Given the description of an element on the screen output the (x, y) to click on. 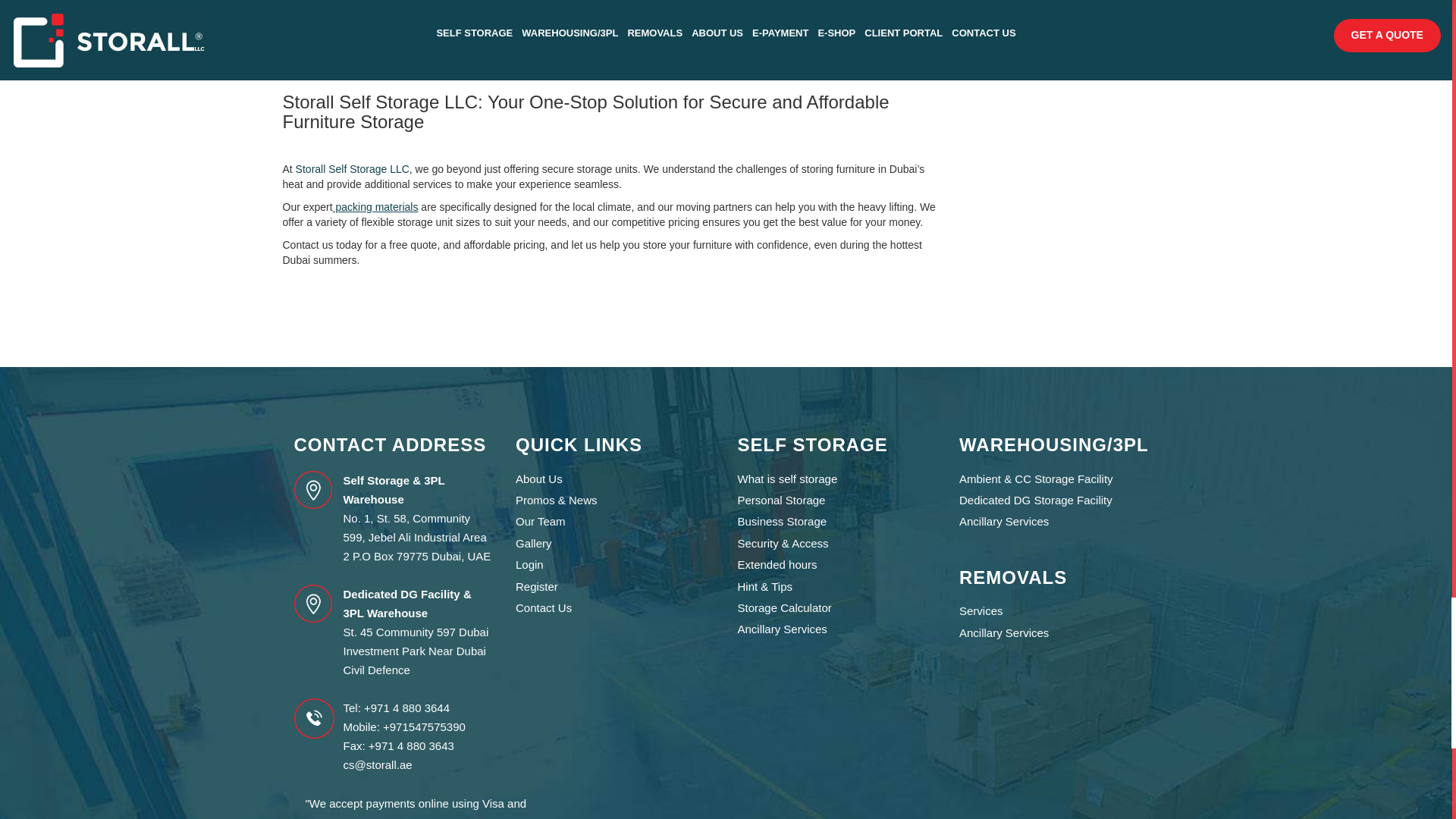
Storall Self Storage LLC (350, 168)
packing materials (377, 206)
free consultation (384, 23)
